Given the description of an element on the screen output the (x, y) to click on. 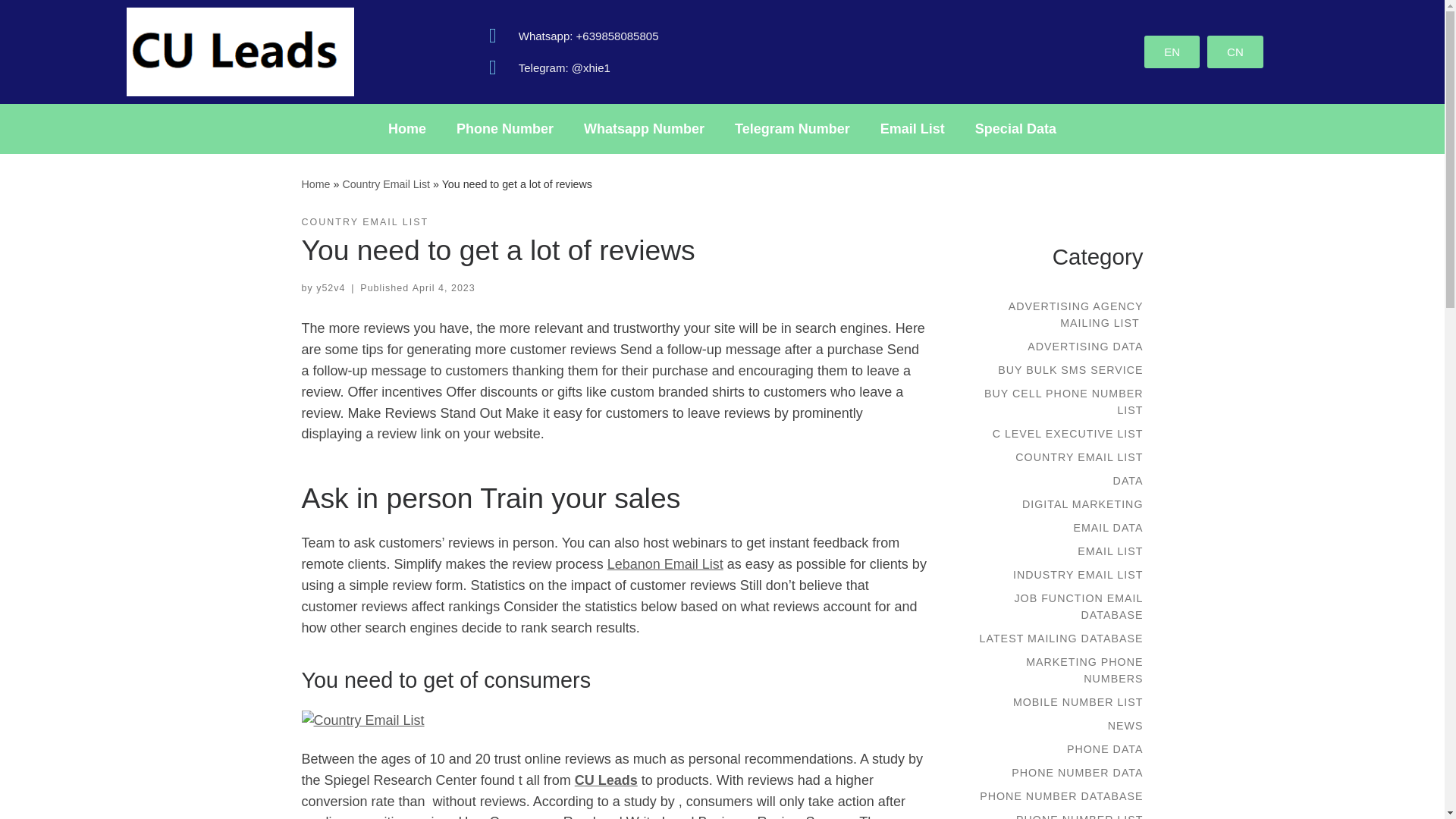
4:58 am (444, 287)
y52v4 (330, 287)
View all posts by y52v4 (330, 287)
Special Data (1015, 128)
Whatsapp Number (644, 128)
View all posts in Country Email List (365, 222)
CU Leads (606, 780)
Home (315, 183)
Email List (911, 128)
Lebanon Email List (665, 563)
Telegram Number (791, 128)
COUNTRY EMAIL LIST (365, 222)
EN (1171, 51)
Home (406, 128)
Phone Number (505, 128)
